Given the description of an element on the screen output the (x, y) to click on. 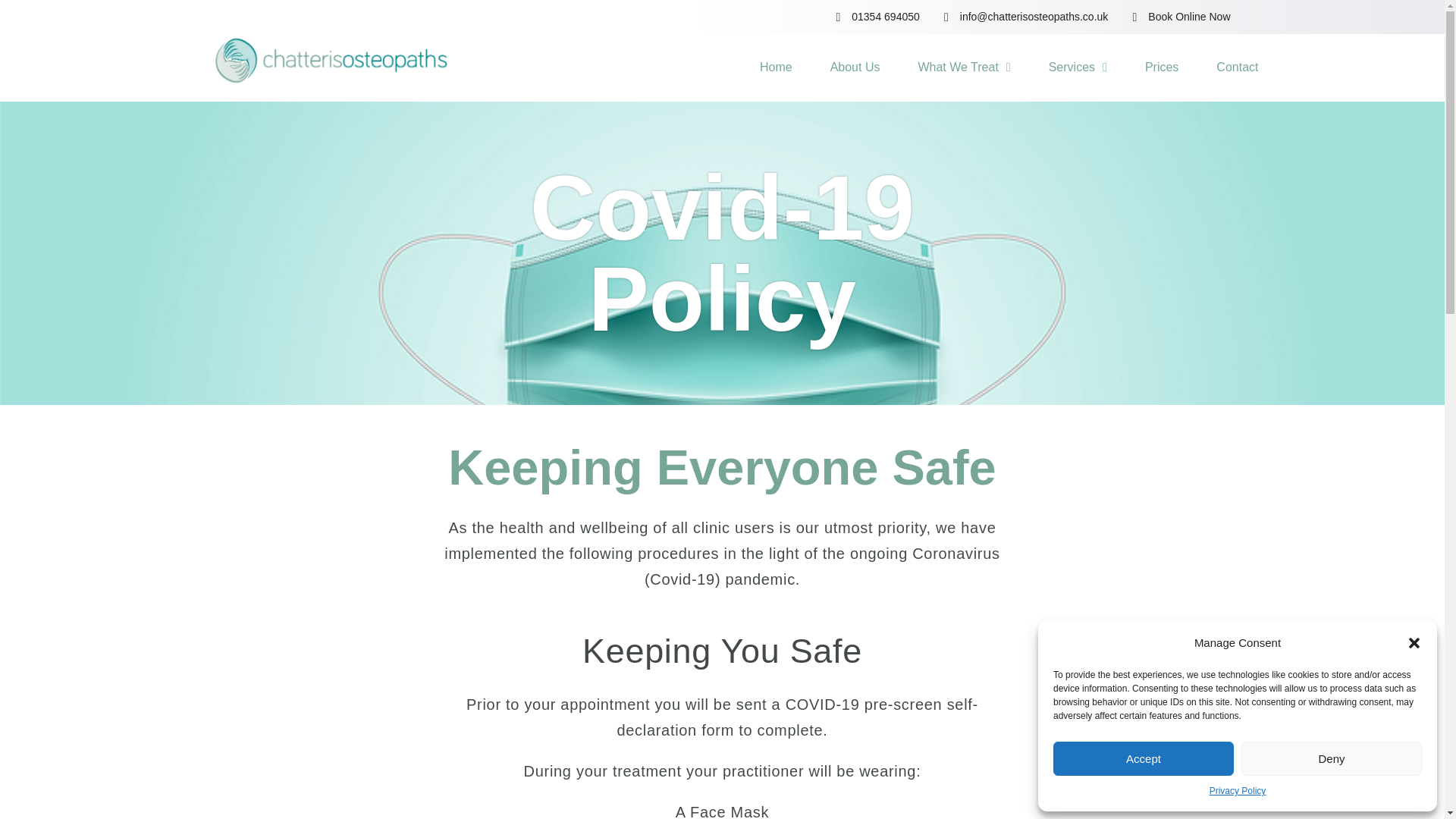
Services (1077, 67)
01354 694050 (872, 16)
Privacy Policy (1237, 791)
Contact (1236, 67)
Book Online Now (1175, 16)
Home (776, 67)
Accept (1142, 758)
Deny (1331, 758)
About Us (854, 67)
What We Treat (963, 67)
